Given the description of an element on the screen output the (x, y) to click on. 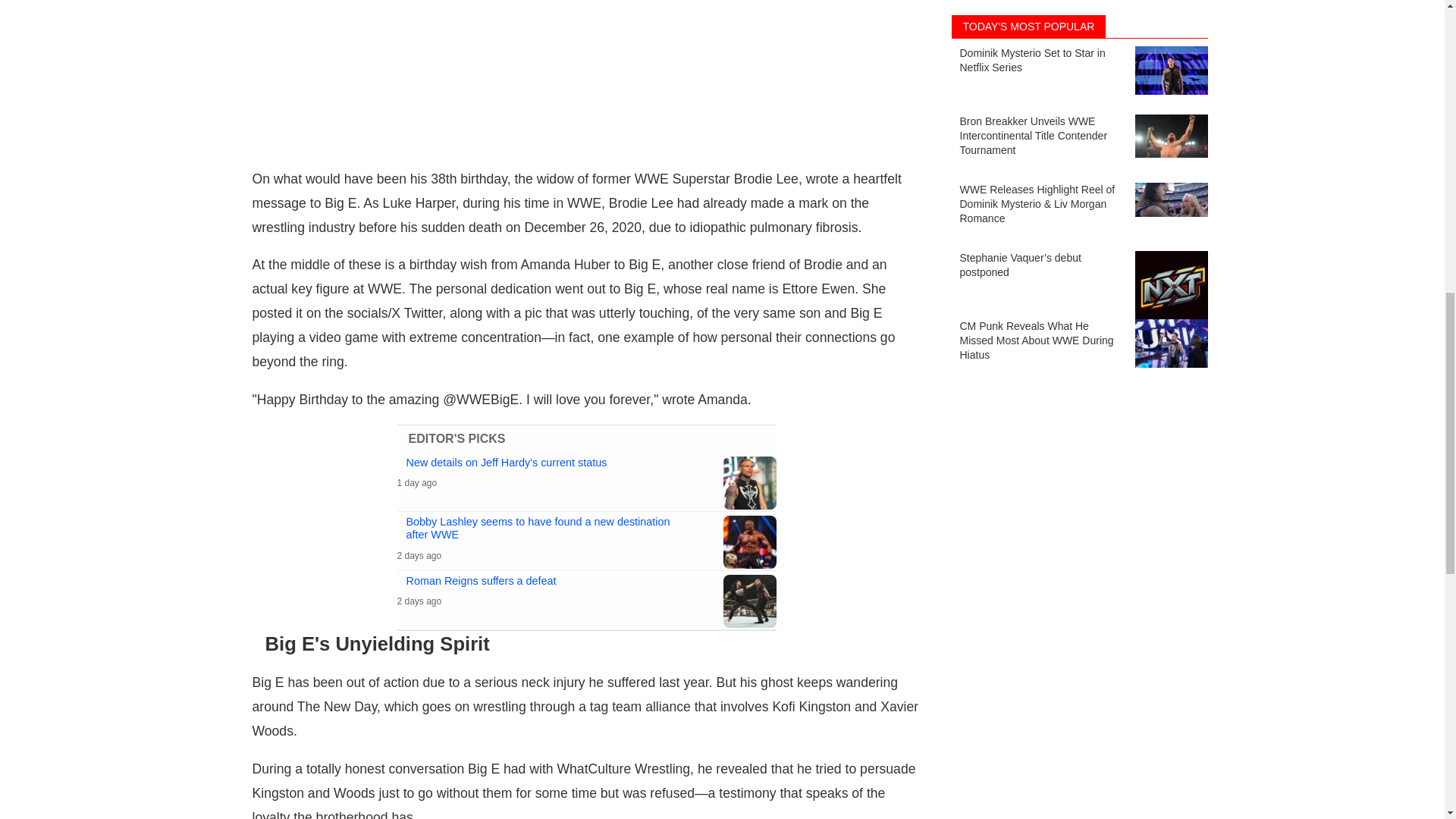
Dominik Mysterio Set to Star in Netflix Series (1078, 29)
CM Punk Reveals What He Missed Most About WWE During Hiatus (1078, 302)
